Given the description of an element on the screen output the (x, y) to click on. 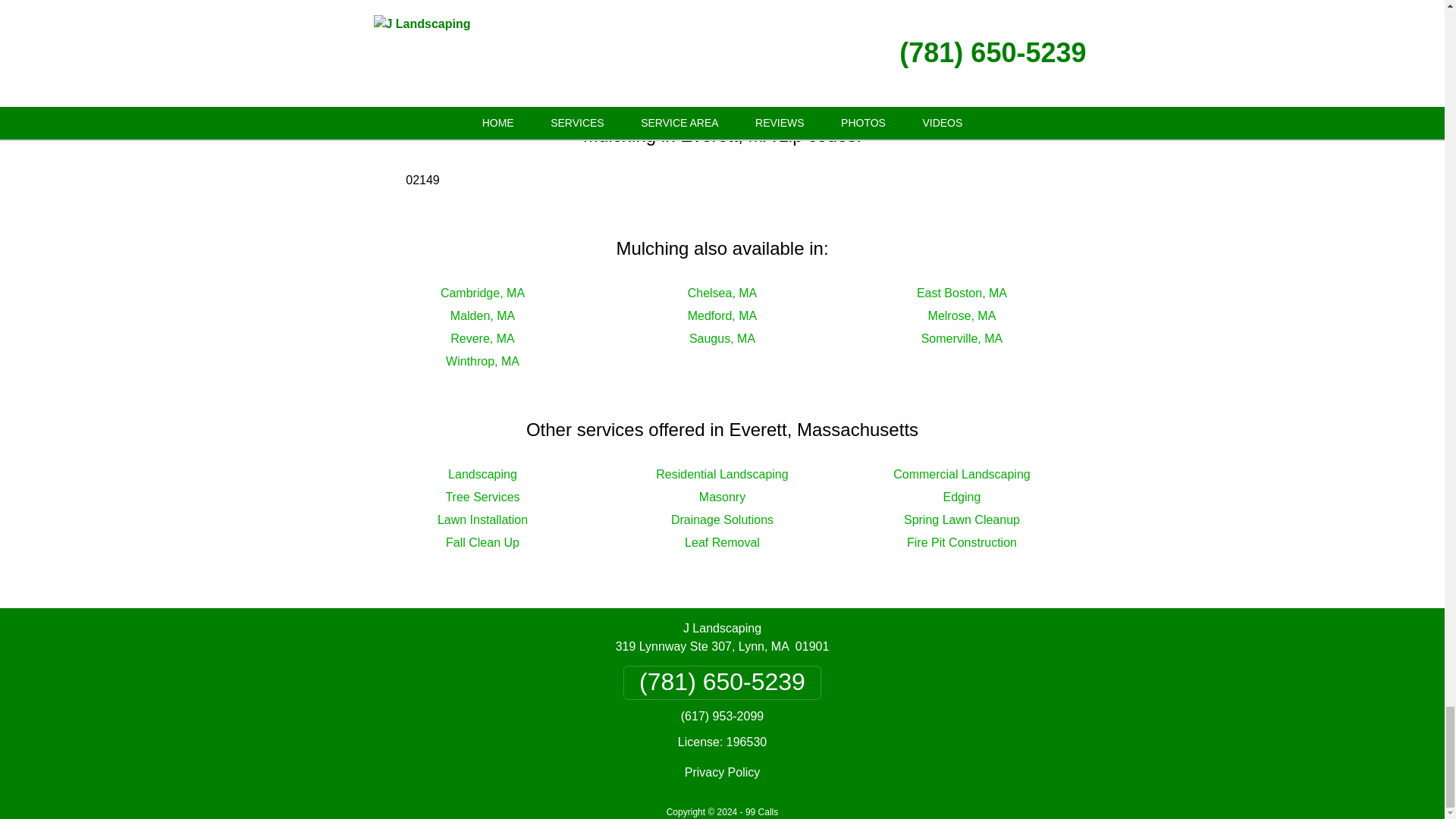
YouTube (885, 40)
Revere, MA (481, 338)
Melrose, MA (961, 315)
Google (654, 40)
Yelp (728, 40)
Chelsea, MA (722, 292)
Cambridge, MA (482, 292)
Medford, MA (722, 315)
Houzz (799, 40)
East Boston, MA (962, 292)
Facebook (562, 40)
Malden, MA (482, 315)
